Given the description of an element on the screen output the (x, y) to click on. 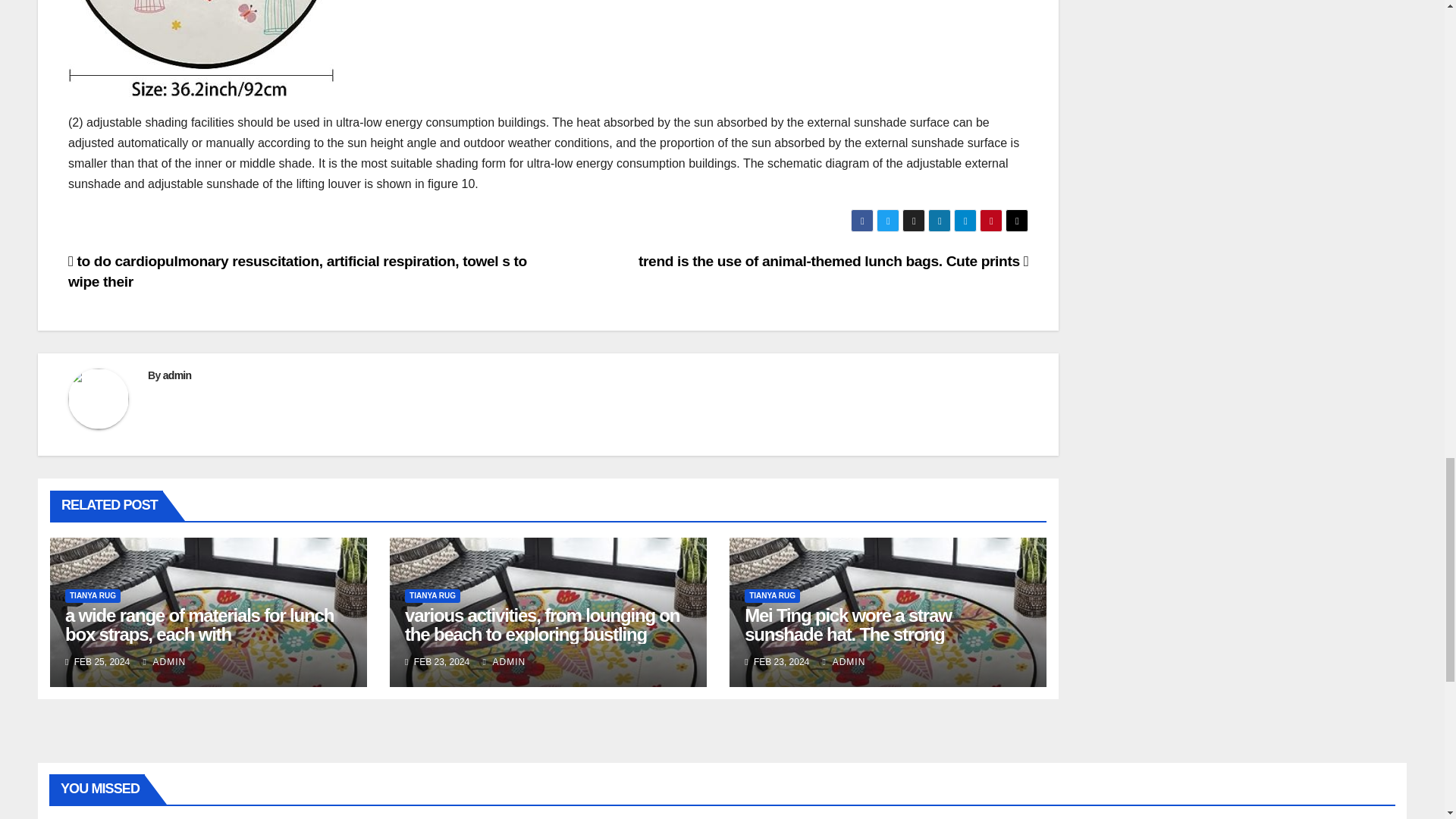
ADMIN (504, 661)
ADMIN (164, 661)
trend is the use of animal-themed lunch bags. Cute prints (833, 261)
TIANYA RUG (92, 595)
admin (177, 375)
TIANYA RUG (771, 595)
TIANYA RUG (432, 595)
Mei Ting pick wore a straw sunshade hat. The strong (847, 624)
a wide range of materials for lunch box straps, each with (199, 624)
ADMIN (844, 661)
